Given the description of an element on the screen output the (x, y) to click on. 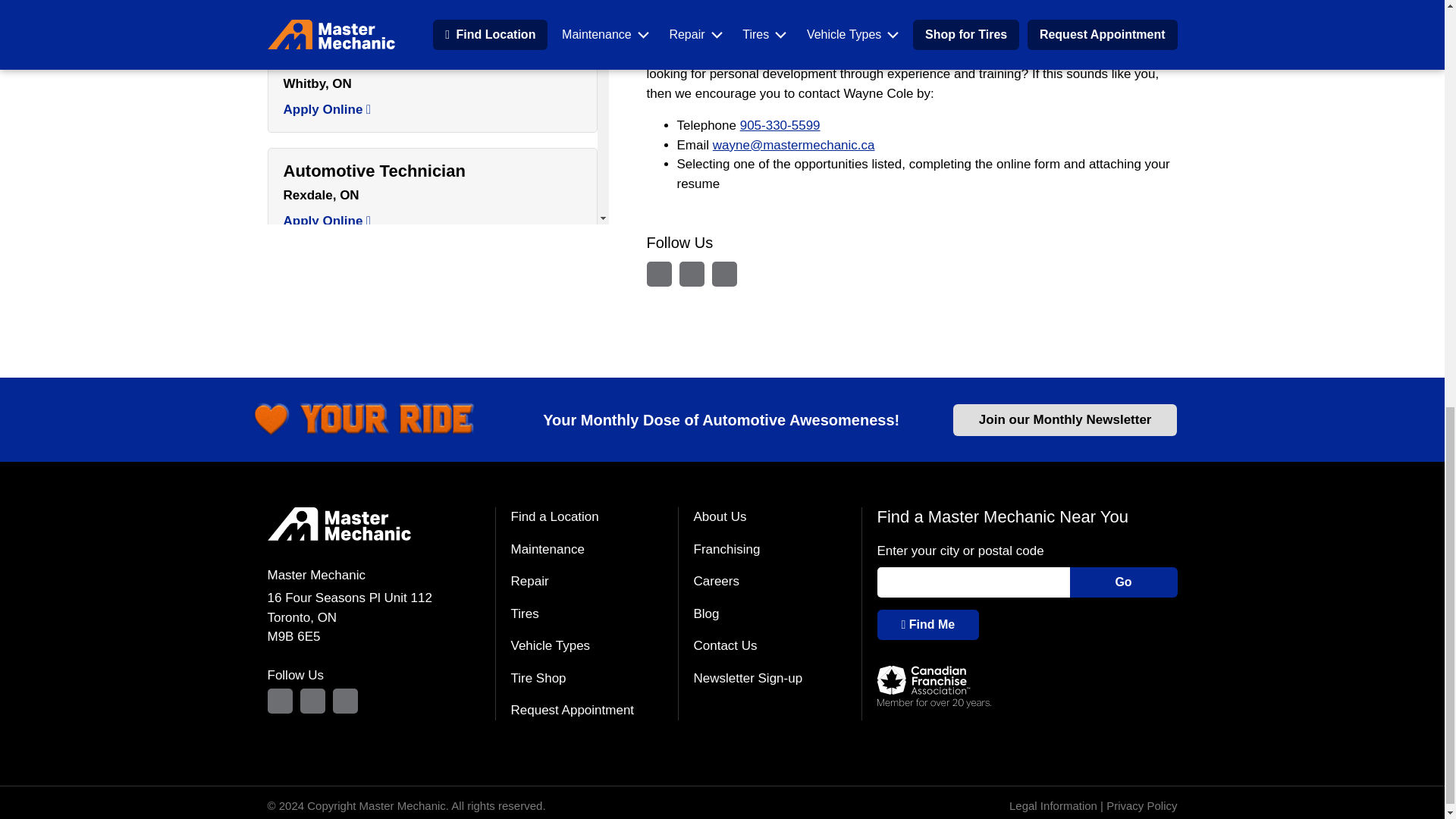
Facebook (311, 700)
YouTube (343, 700)
YouTube (723, 273)
Instagram (658, 273)
Facebook (691, 273)
Instagram (279, 700)
